Given the description of an element on the screen output the (x, y) to click on. 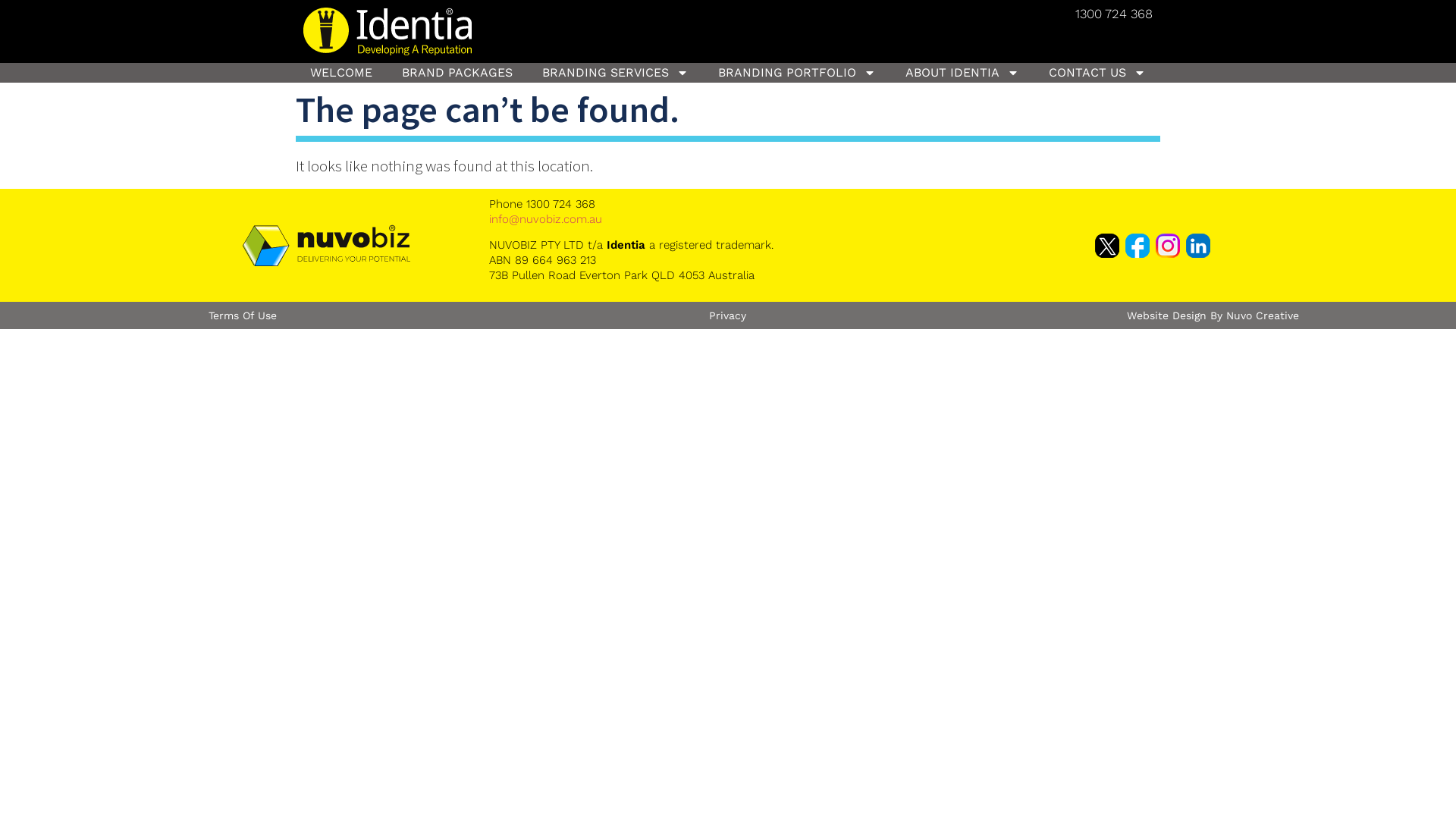
CONTACT US Element type: text (1096, 72)
ABOUT IDENTIA Element type: text (961, 72)
WELCOME Element type: text (341, 72)
Privacy Element type: text (727, 315)
BRANDING PORTFOLIO Element type: text (796, 72)
info@nuvobiz.com.au Element type: text (545, 218)
Website Design By Nuvo Creative Element type: text (1212, 315)
Terms Of Use Element type: text (242, 315)
BRAND PACKAGES Element type: text (457, 72)
BRANDING SERVICES Element type: text (615, 72)
